Given the description of an element on the screen output the (x, y) to click on. 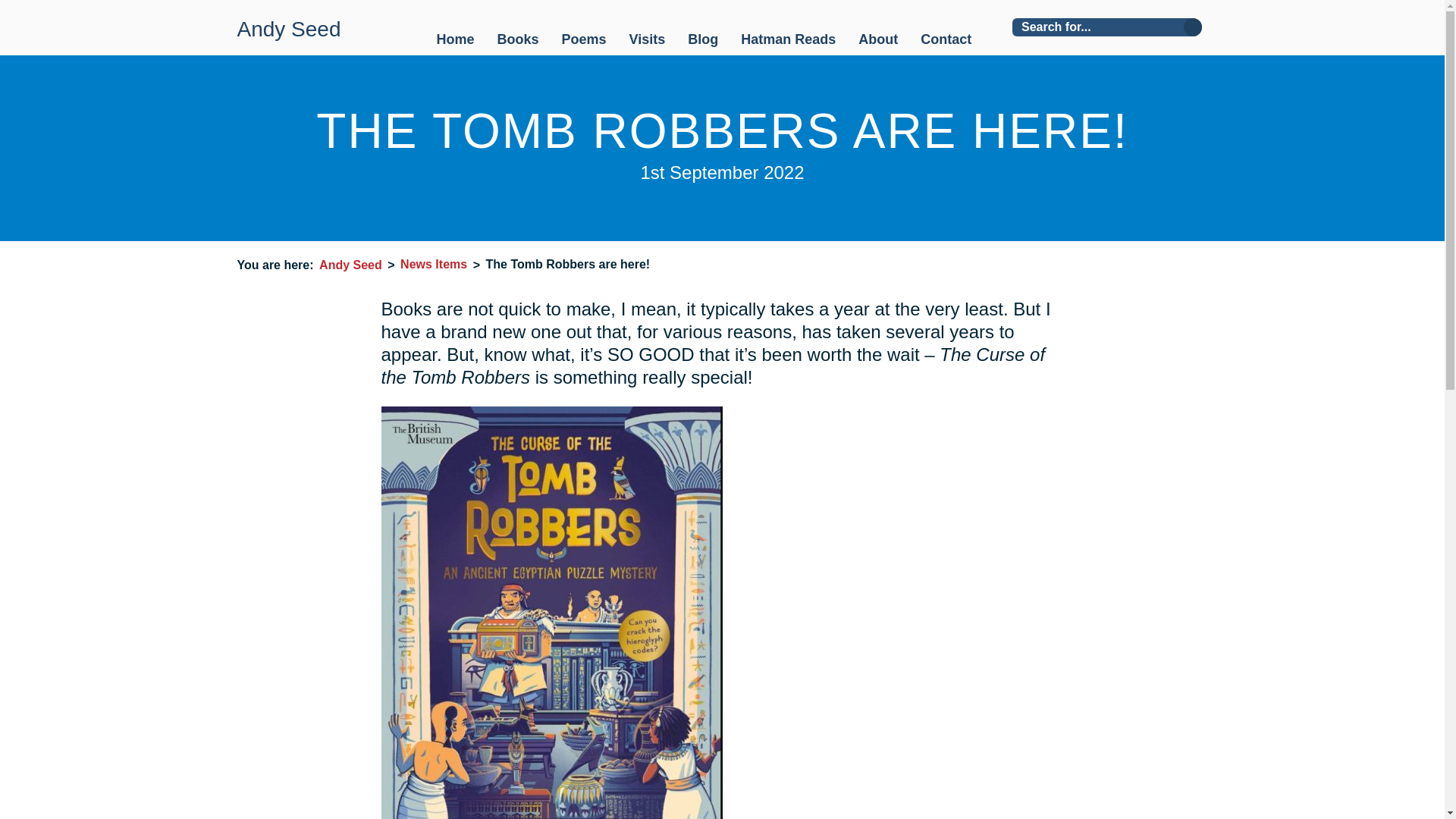
Hatman Reads (788, 40)
Thursday, September 1, 2022, 9:14 am (721, 172)
Poems (584, 40)
Andy Seed (349, 264)
Visits (646, 40)
Blog (702, 40)
About (878, 40)
Andy Seed (287, 27)
Books (517, 40)
Home (455, 40)
